Given the description of an element on the screen output the (x, y) to click on. 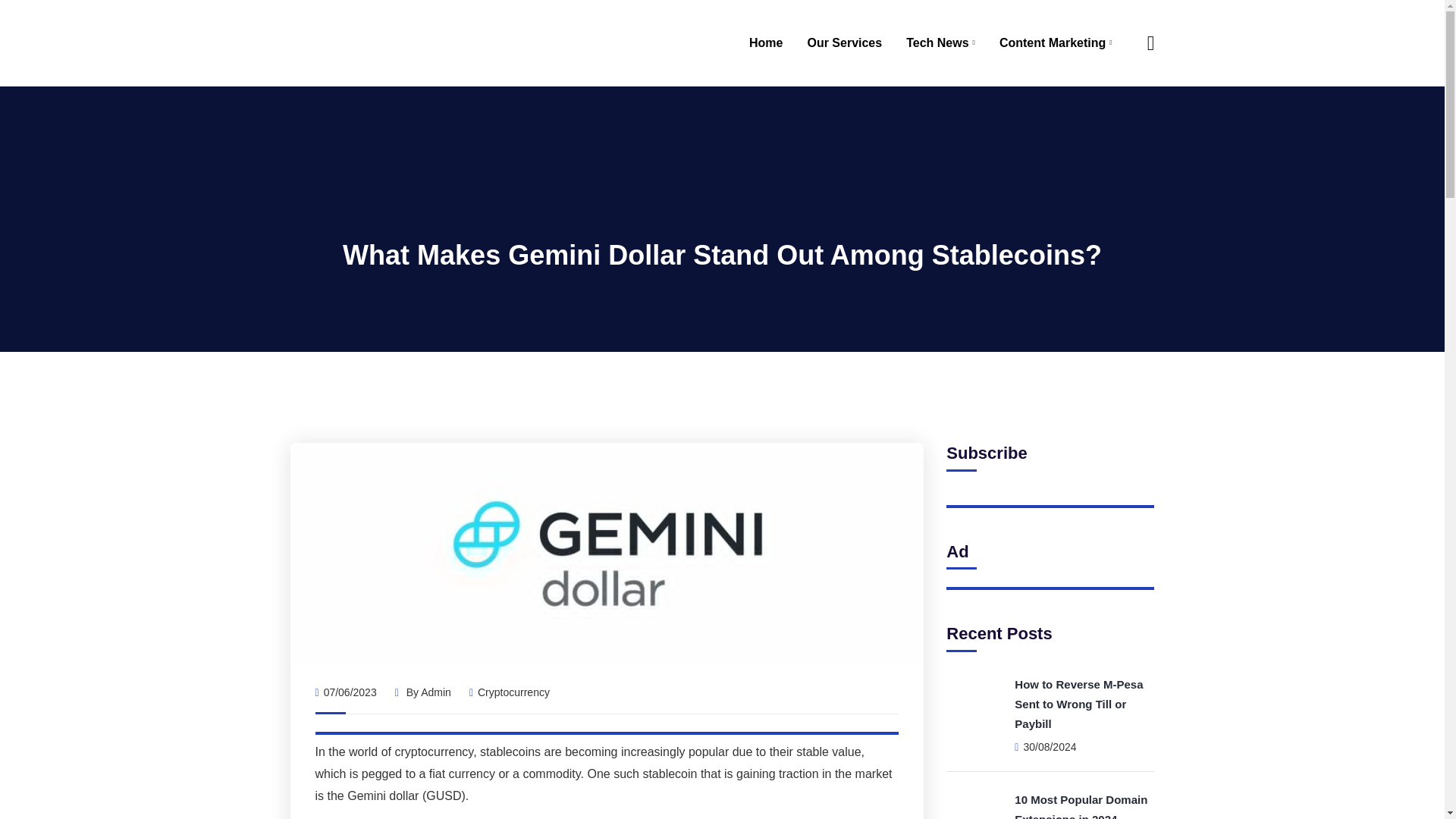
Cryptocurrency (513, 692)
Admin (435, 692)
How to Reverse M-Pesa Sent to Wrong Till or Paybill (1078, 704)
How to Reverse M-Pesa Sent to Wrong Till or Paybill (1078, 704)
Our Services (844, 43)
Posts by Admin (435, 692)
Tech News (940, 43)
Content Marketing (1055, 43)
10 Most Popular Domain Extensions in 2024 (1080, 806)
10 Most Popular Domain Extensions in 2024 (1080, 806)
